Given the description of an element on the screen output the (x, y) to click on. 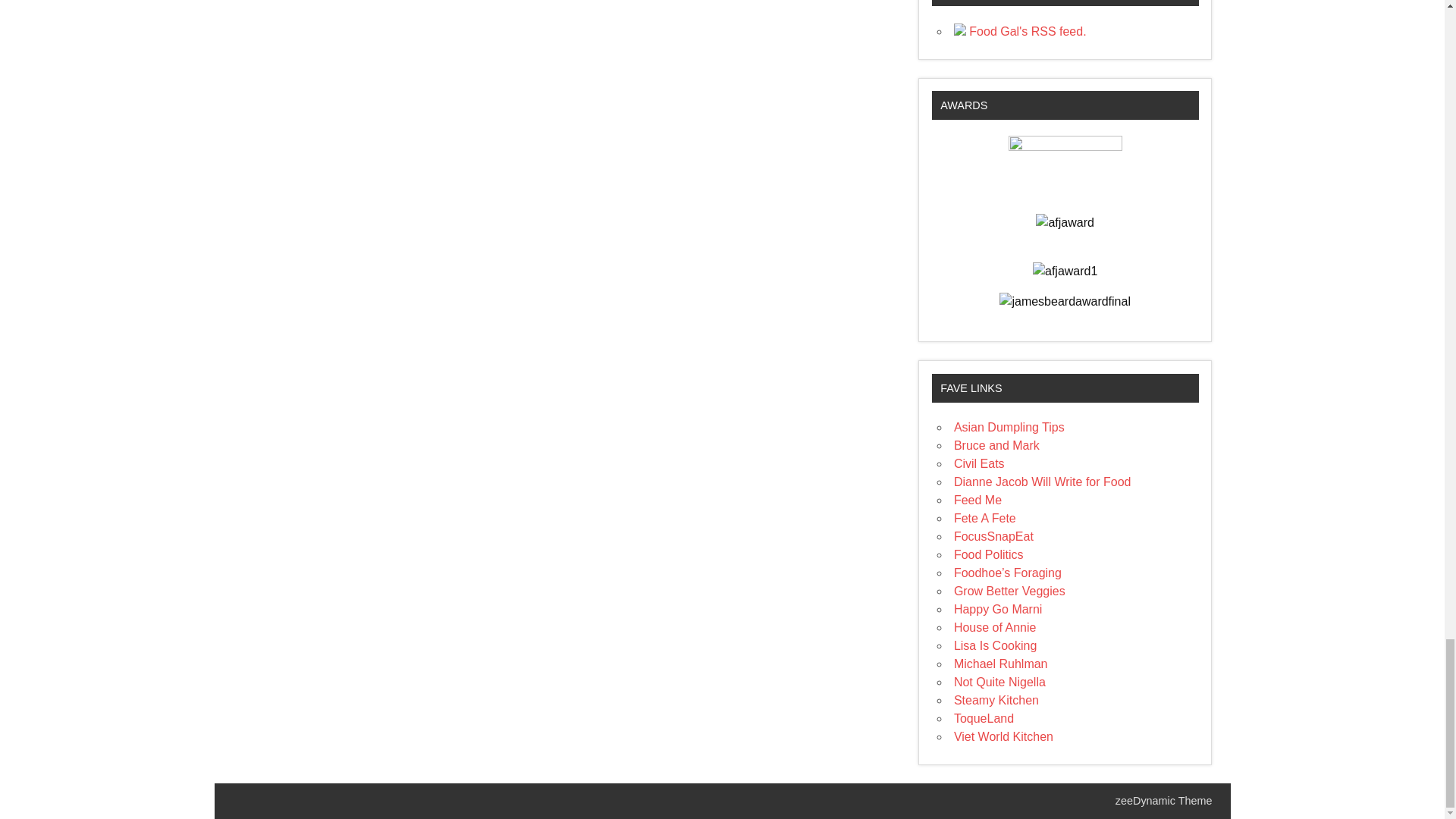
afjaward (1064, 222)
Subscribe to Food Gal's RSS feed (1019, 31)
afjaward1 (1064, 271)
jamesbeardawardfinal (1064, 301)
